Given the description of an element on the screen output the (x, y) to click on. 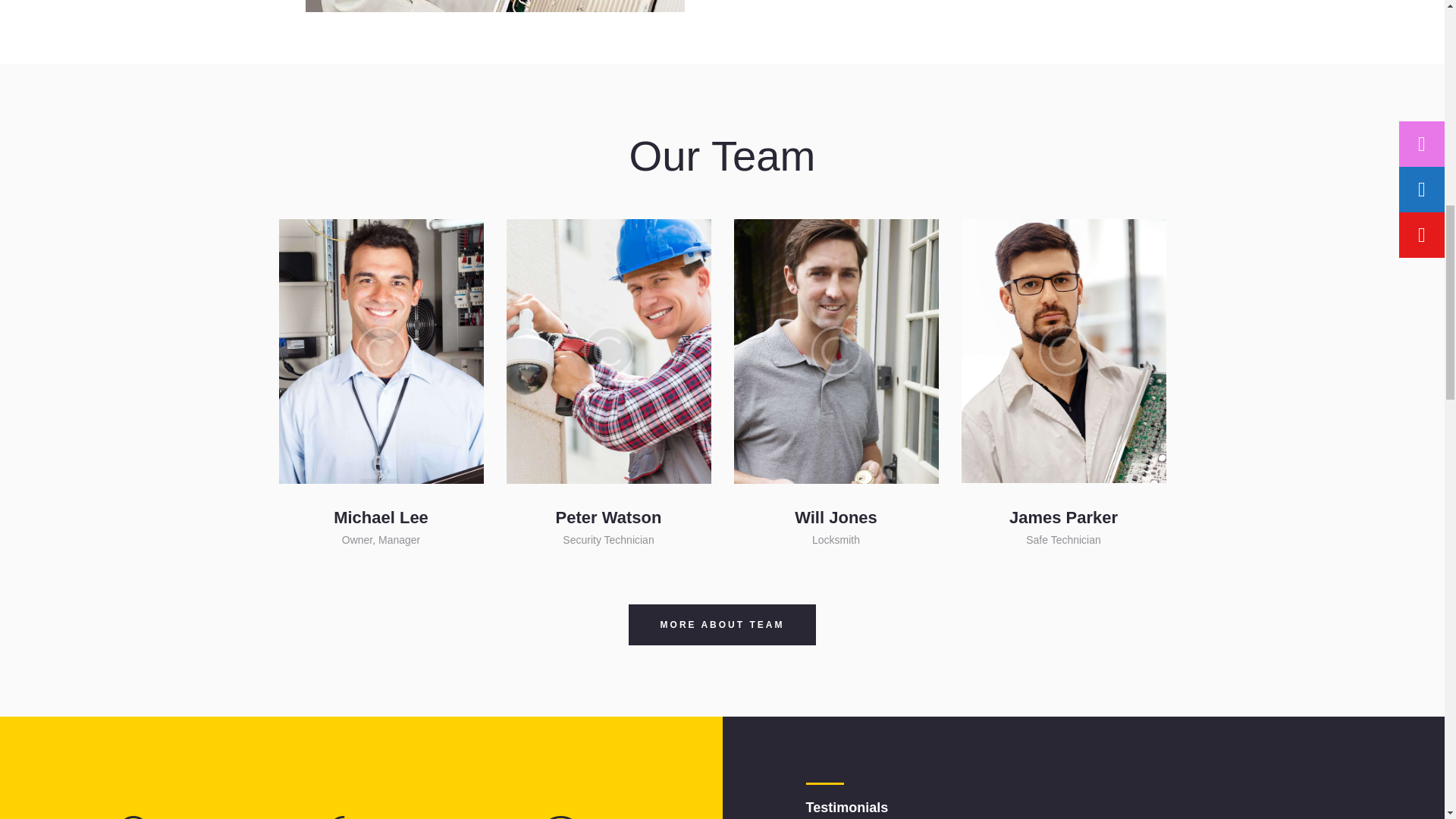
Peter Watson (609, 517)
Will Jones (835, 517)
Michael Lee (380, 517)
